Given the description of an element on the screen output the (x, y) to click on. 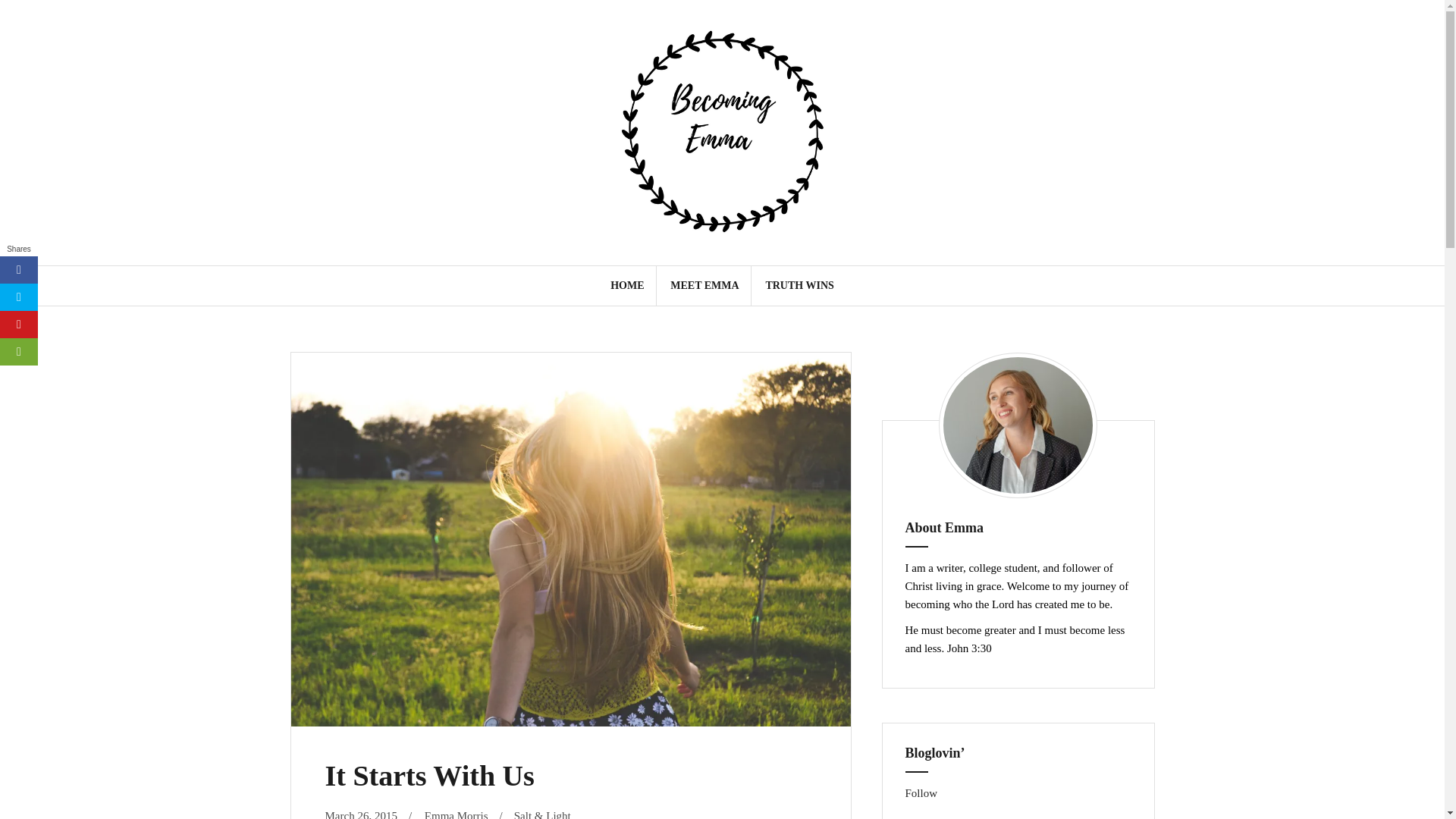
HOME (626, 285)
MEET EMMA (703, 285)
Follow (921, 793)
TRUTH WINS (798, 285)
March 26, 2015 (360, 814)
Emma Morris (456, 814)
